Given the description of an element on the screen output the (x, y) to click on. 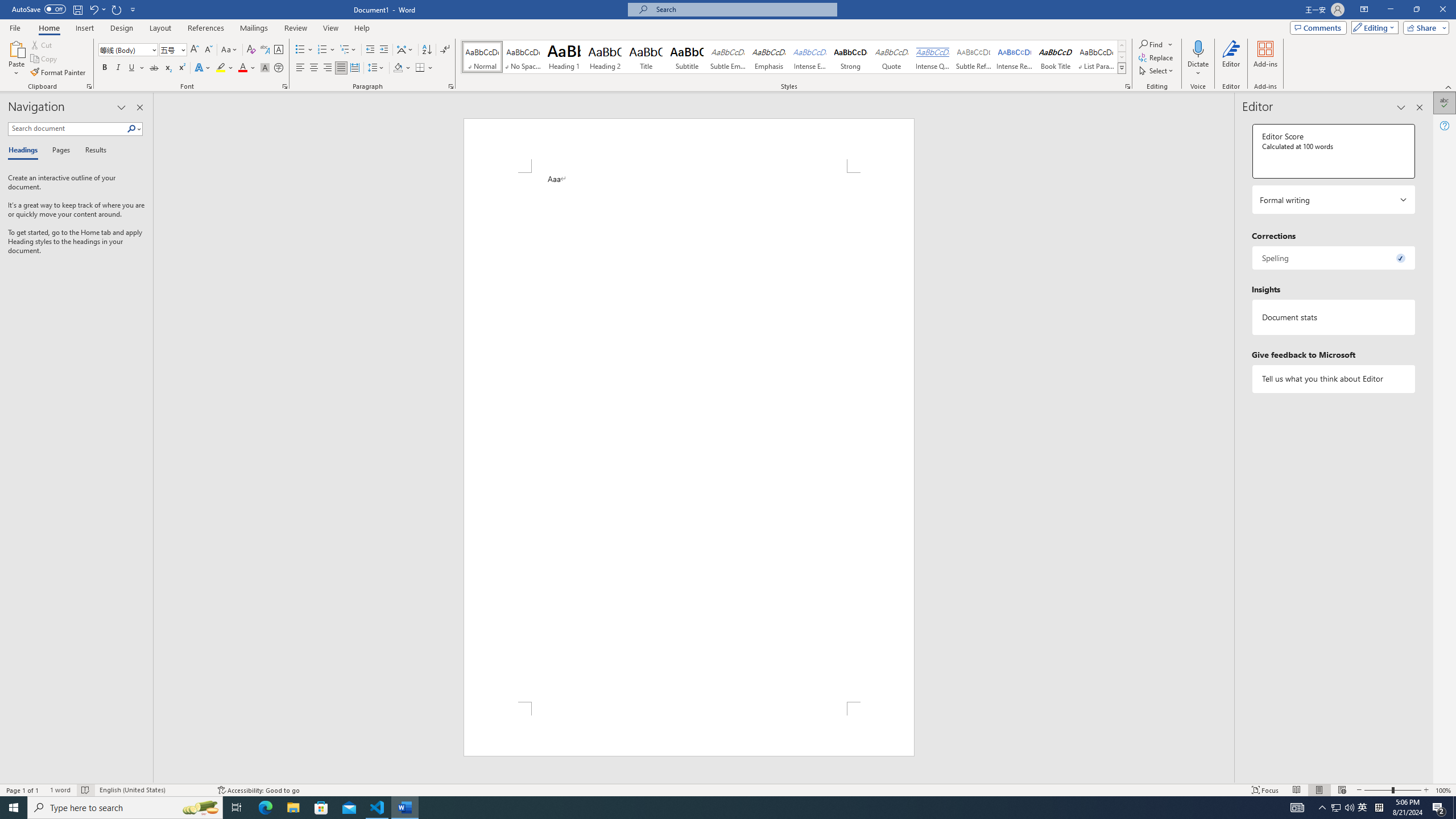
Format Painter (58, 72)
Subtle Emphasis (727, 56)
Editor (1231, 58)
Spelling and Grammar Check No Errors (85, 790)
Editor (1444, 102)
Heading 1 (564, 56)
Shading (402, 67)
Shrink Font (208, 49)
